Given the description of an element on the screen output the (x, y) to click on. 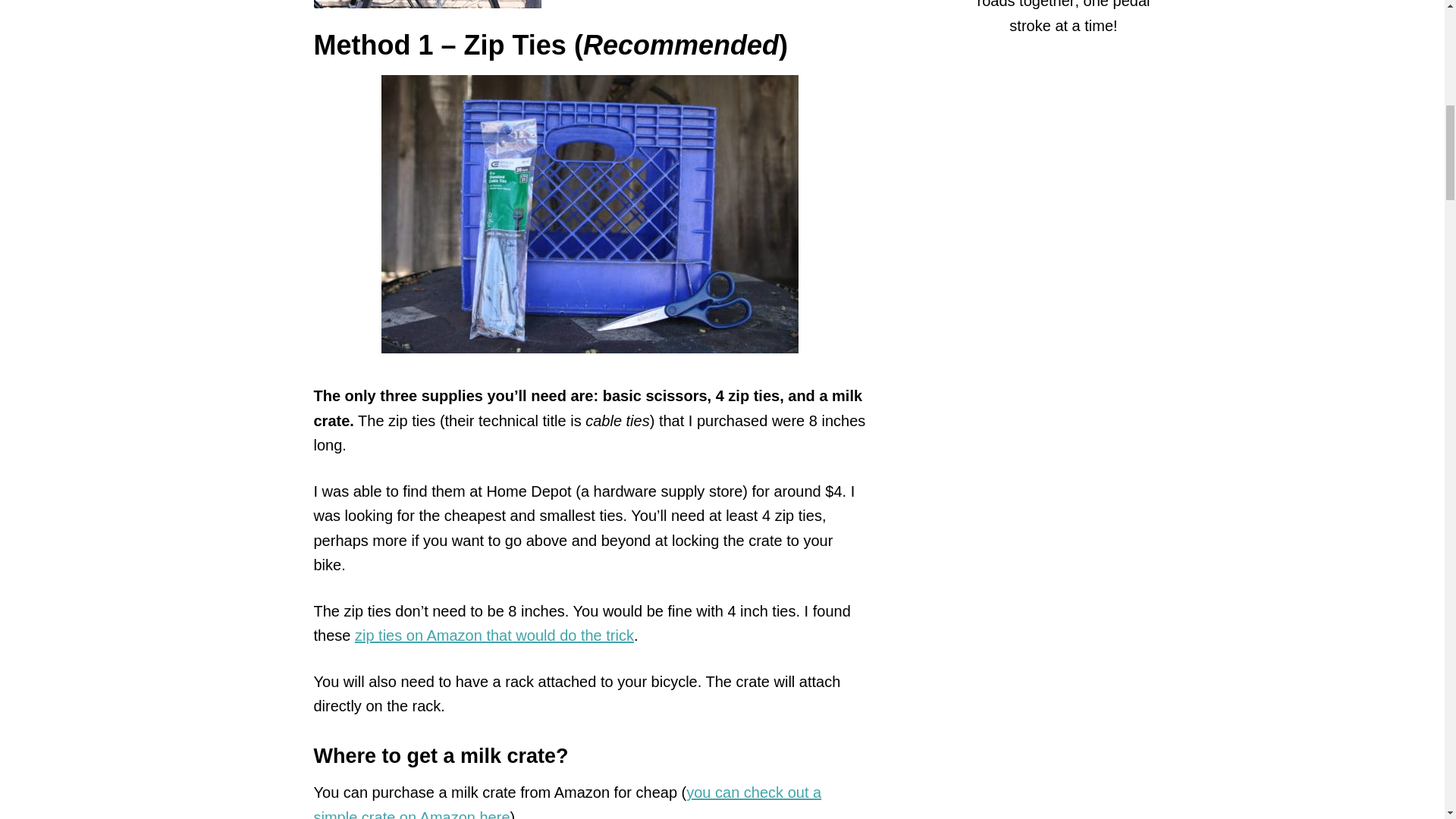
zip ties on Amazon that would do the trick (494, 635)
you can check out a simple crate on Amazon here (568, 801)
